Given the description of an element on the screen output the (x, y) to click on. 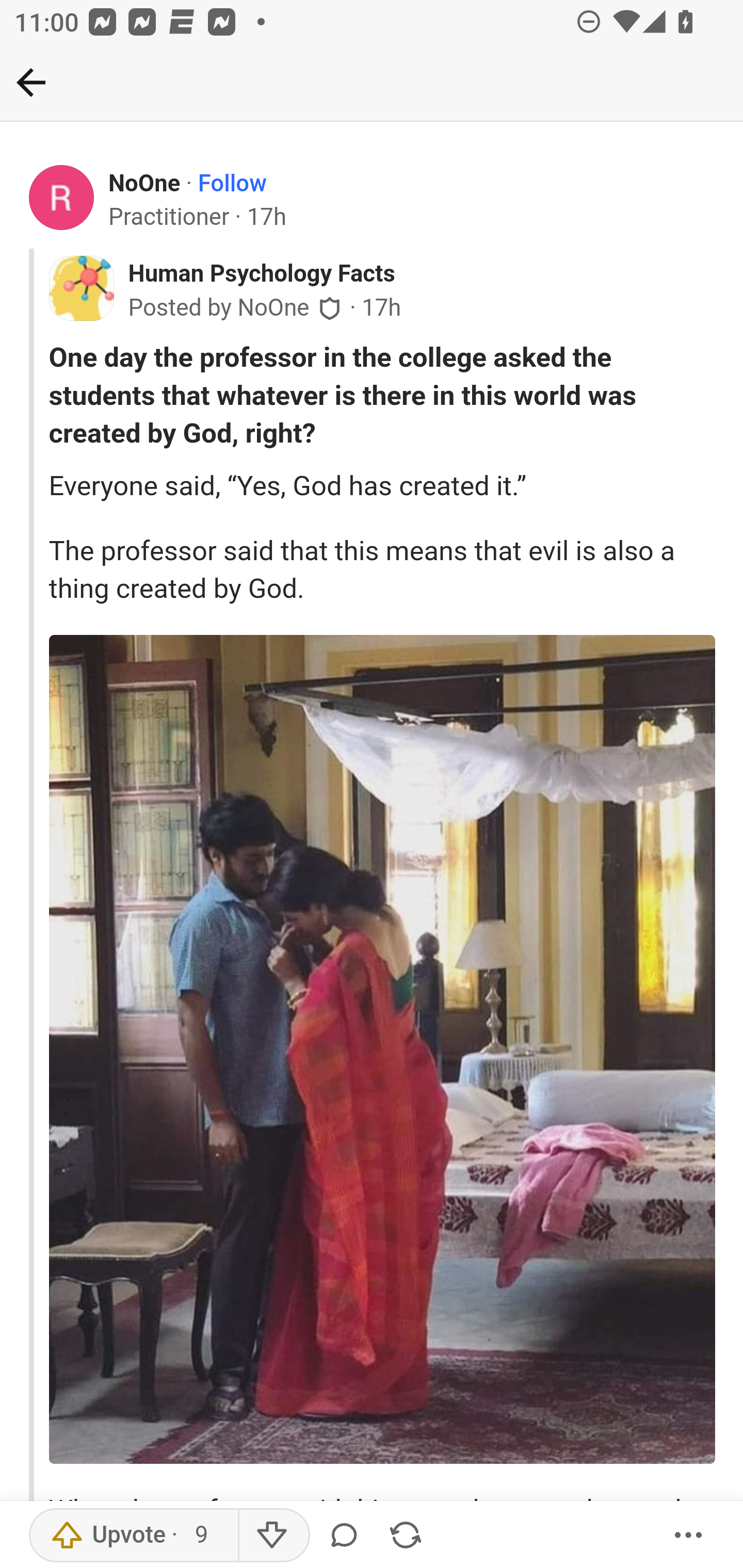
Back (30, 82)
Profile photo for NoOne (61, 198)
NoOne (145, 183)
Follow (231, 183)
Icon for Human Psychology Facts (80, 288)
Human Psychology Facts (260, 274)
main-qimg-8c93f0ef54c99314a6bb4058d1df8086 (381, 1049)
Upvote (133, 1535)
Downvote (273, 1535)
Comment (346, 1535)
Share (405, 1535)
More (688, 1535)
